Given the description of an element on the screen output the (x, y) to click on. 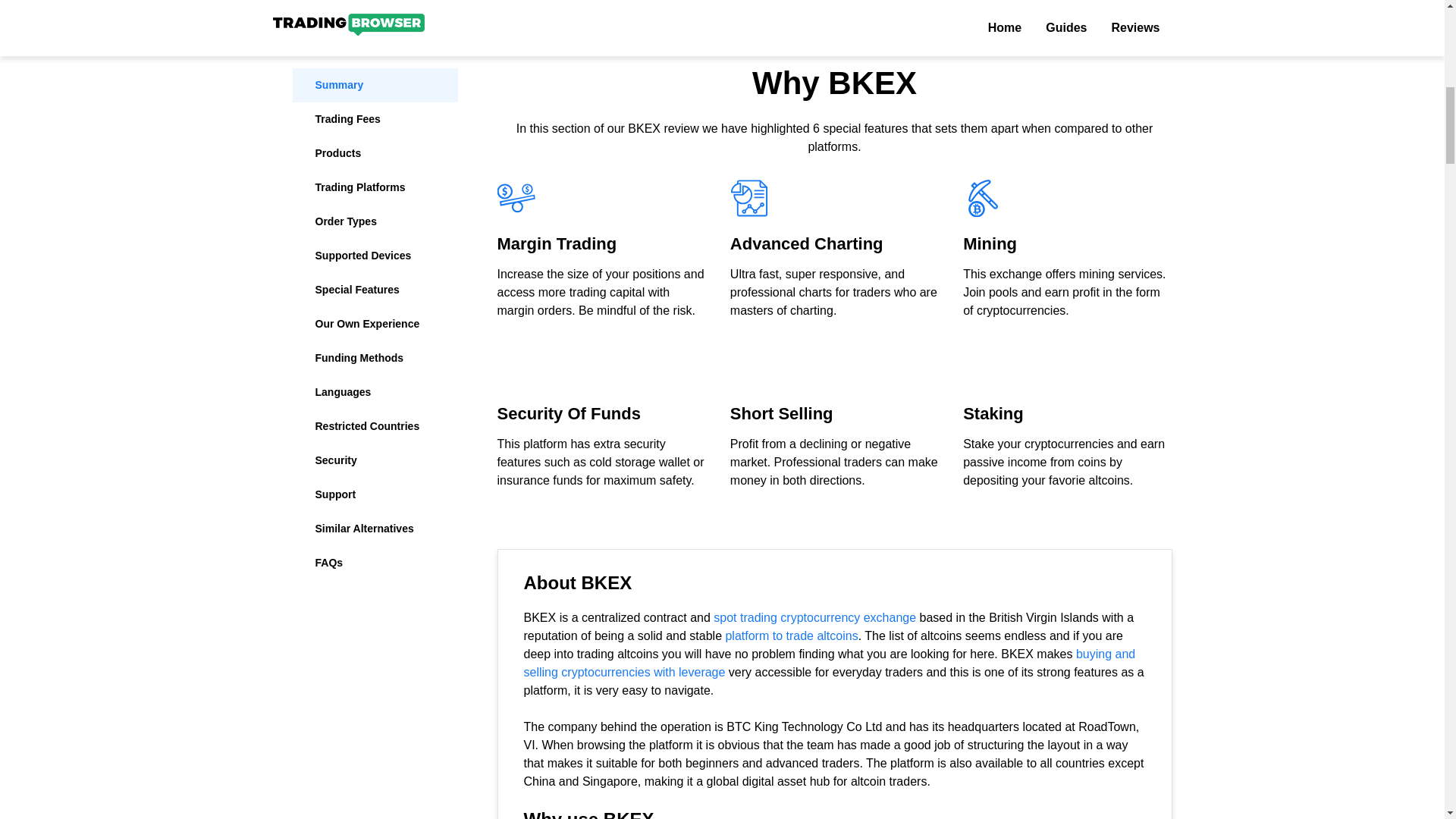
Security (375, 3)
Similar Alternatives (375, 57)
spot trading cryptocurrency exchange (814, 617)
platform to trade altcoins (791, 635)
Support (375, 23)
buying and selling cryptocurrencies with leverage (828, 662)
FAQs (375, 91)
